Given the description of an element on the screen output the (x, y) to click on. 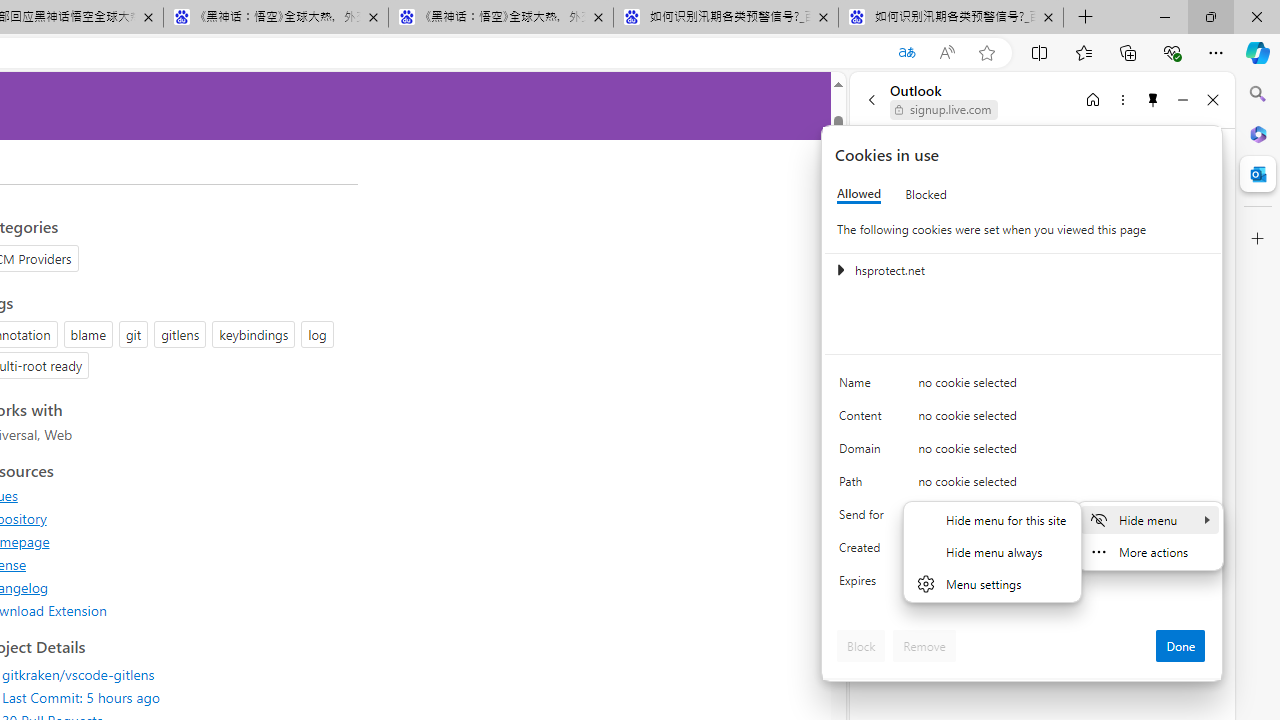
Path (864, 485)
Class: c0153 c0157 (1023, 584)
Menu settings (992, 583)
Send for (864, 518)
Hide menu (992, 551)
Block (861, 645)
no cookie selected (1062, 585)
Expires (864, 585)
Hide menu (1149, 519)
